Given the description of an element on the screen output the (x, y) to click on. 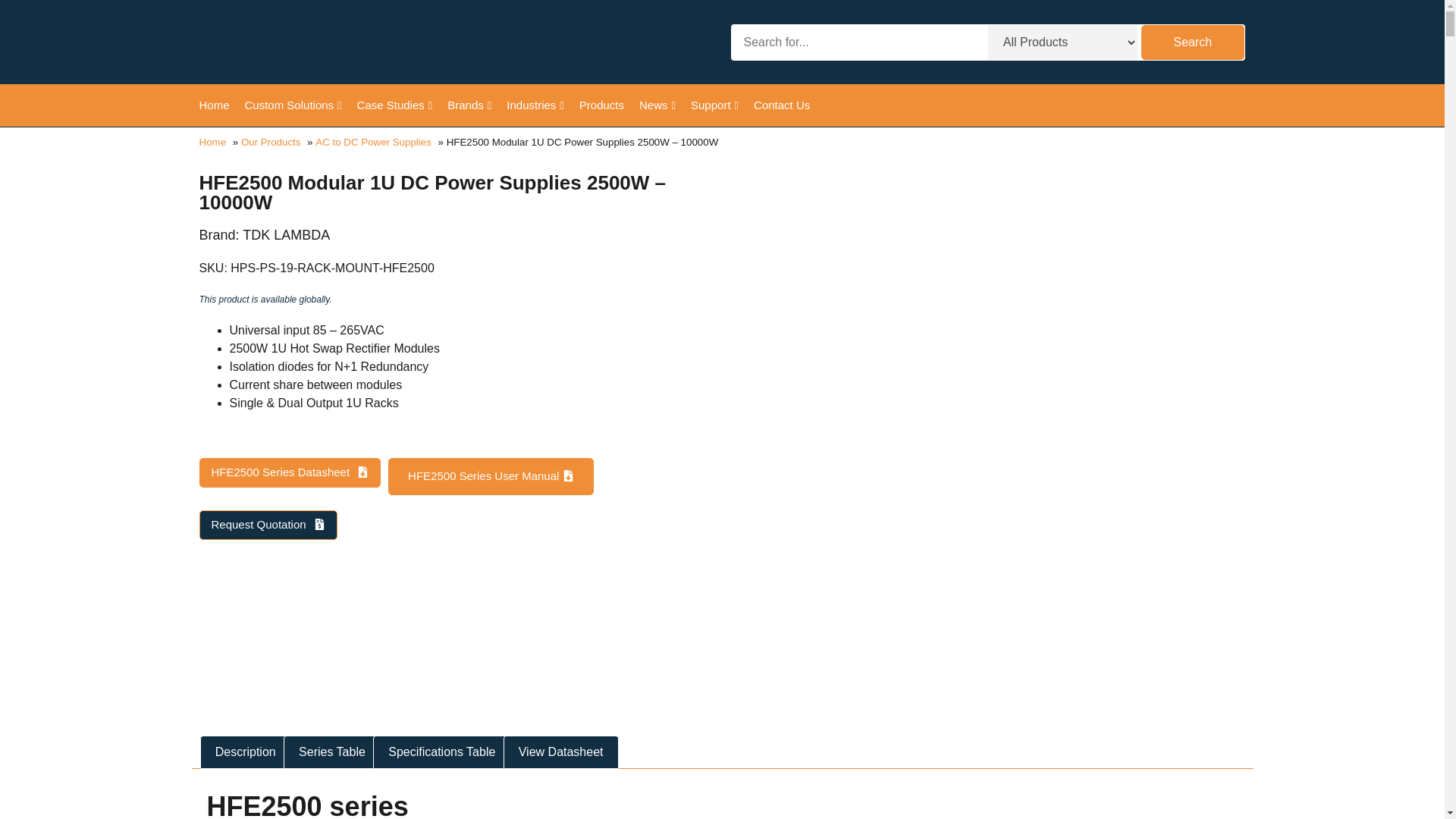
News (657, 105)
Products (601, 105)
Brands (469, 105)
Custom Solutions (293, 105)
Search for: (857, 42)
Case Studies (394, 105)
Search (1192, 42)
Industries (535, 105)
Search (1192, 42)
Search (1192, 42)
